Given the description of an element on the screen output the (x, y) to click on. 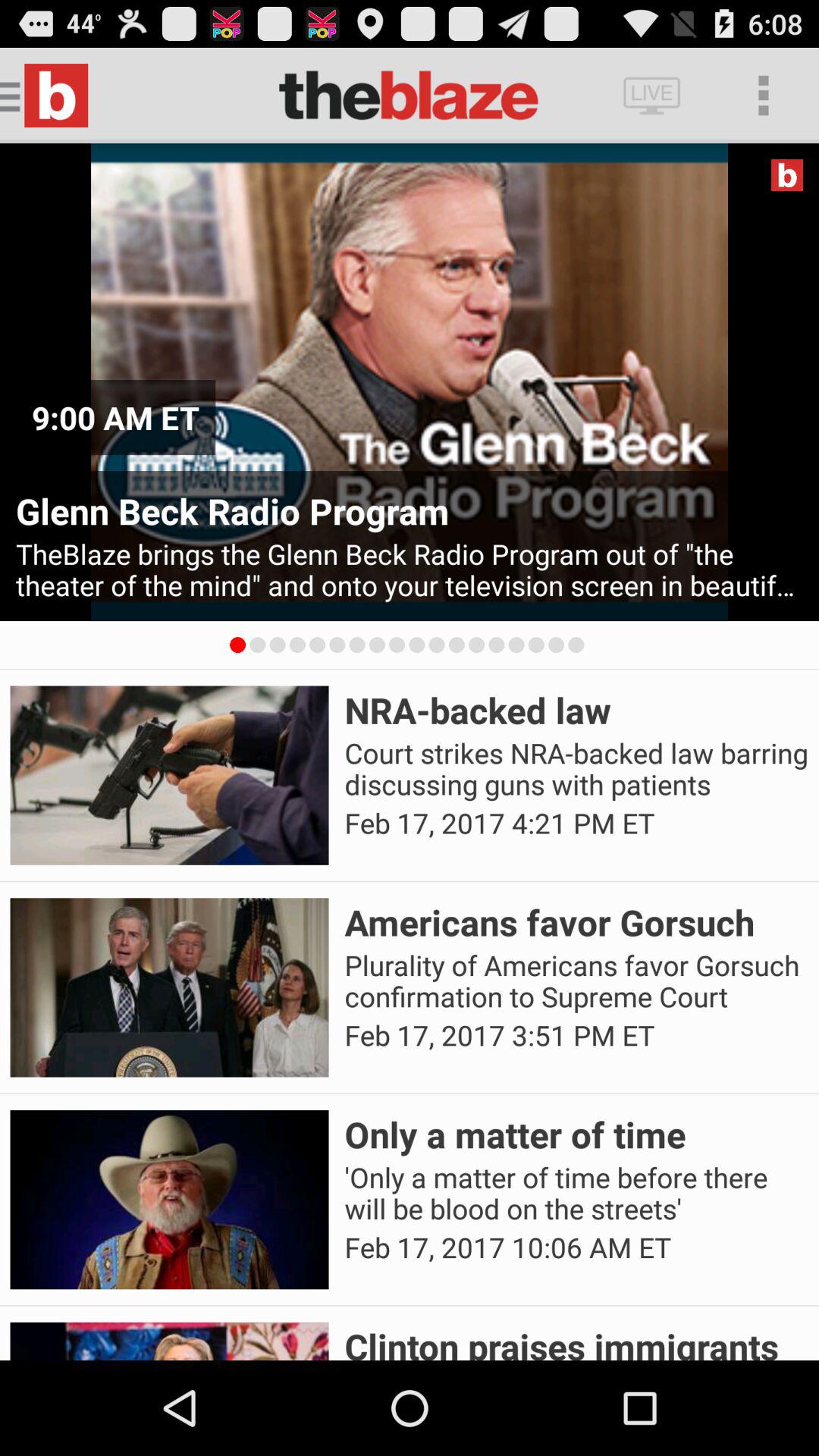
turn off the item above feb 17 2017 (576, 769)
